Given the description of an element on the screen output the (x, y) to click on. 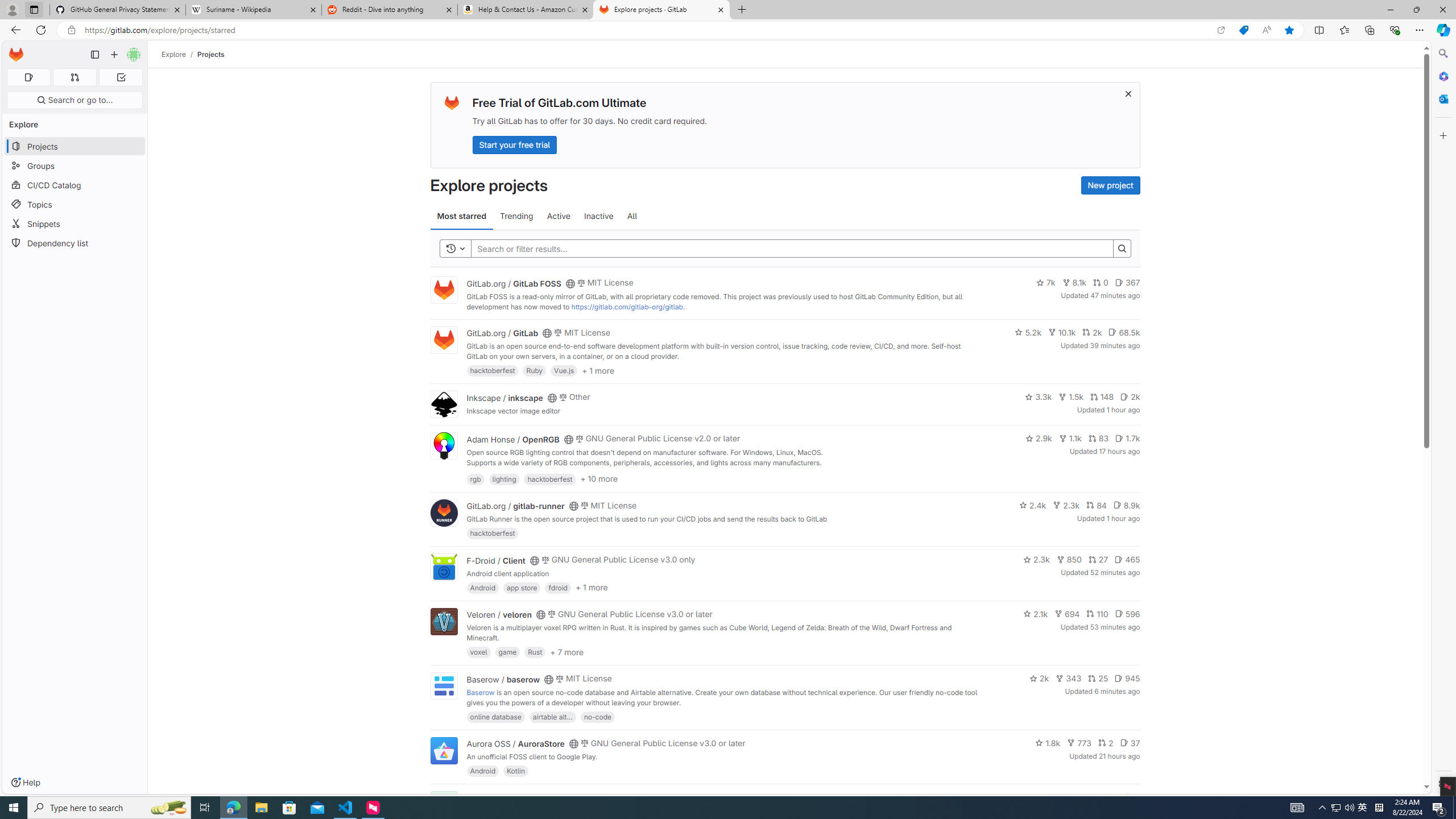
Topics (74, 203)
lighting (504, 478)
Most starred (461, 216)
voxel (478, 651)
3.3k (1038, 396)
Veloren / veloren (498, 614)
Snippets (74, 223)
Android (482, 770)
1.5k (1070, 396)
Primary navigation sidebar (94, 54)
Open in app (1220, 29)
Vue.js (563, 370)
